Given the description of an element on the screen output the (x, y) to click on. 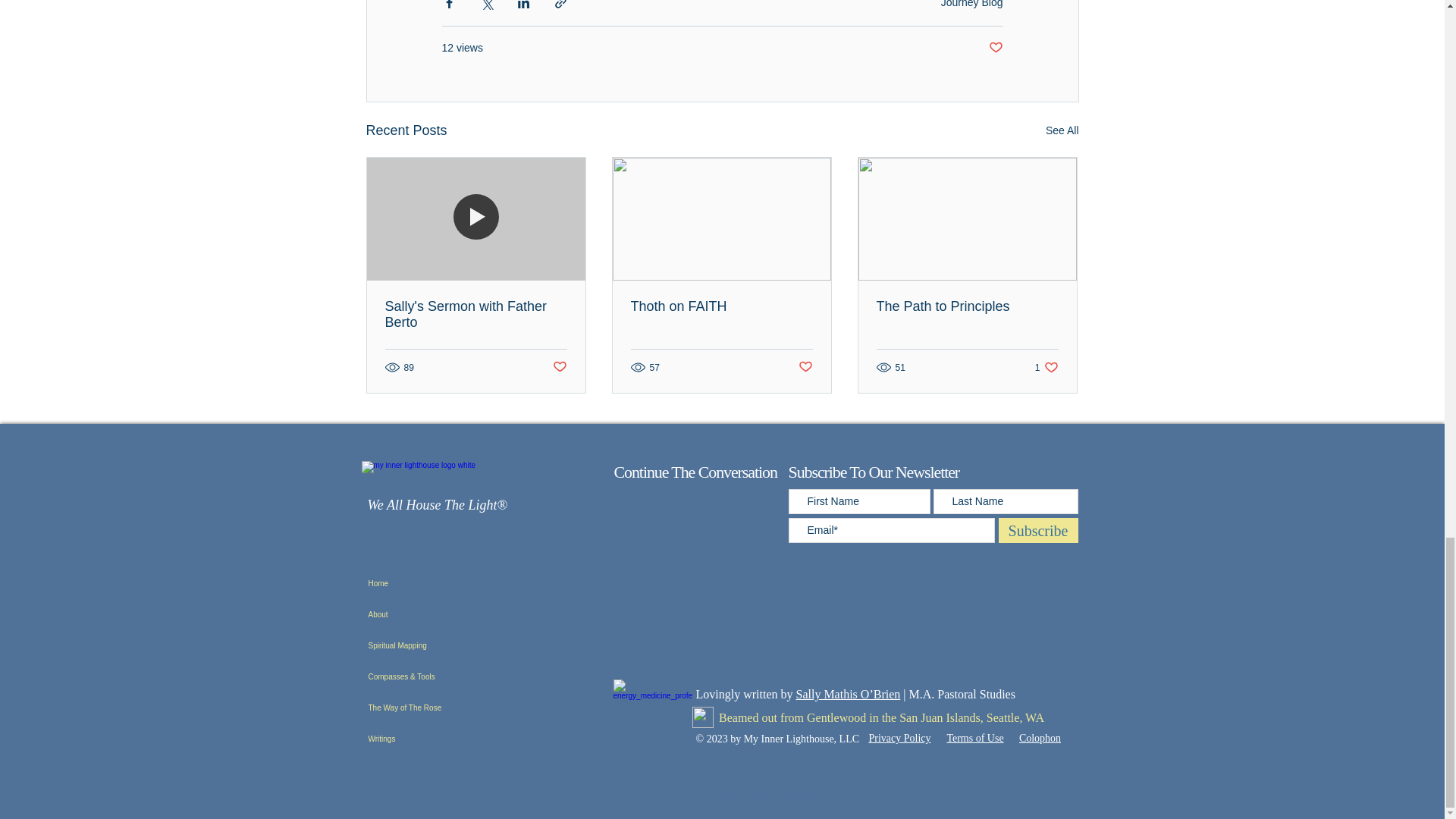
Post not marked as liked (558, 367)
Sally's Sermon with Father Berto (476, 314)
See All (1061, 130)
Thoth on FAITH (721, 306)
Post not marked as liked (804, 367)
Post not marked as liked (995, 48)
Map (702, 717)
Journey Blog (971, 4)
